Given the description of an element on the screen output the (x, y) to click on. 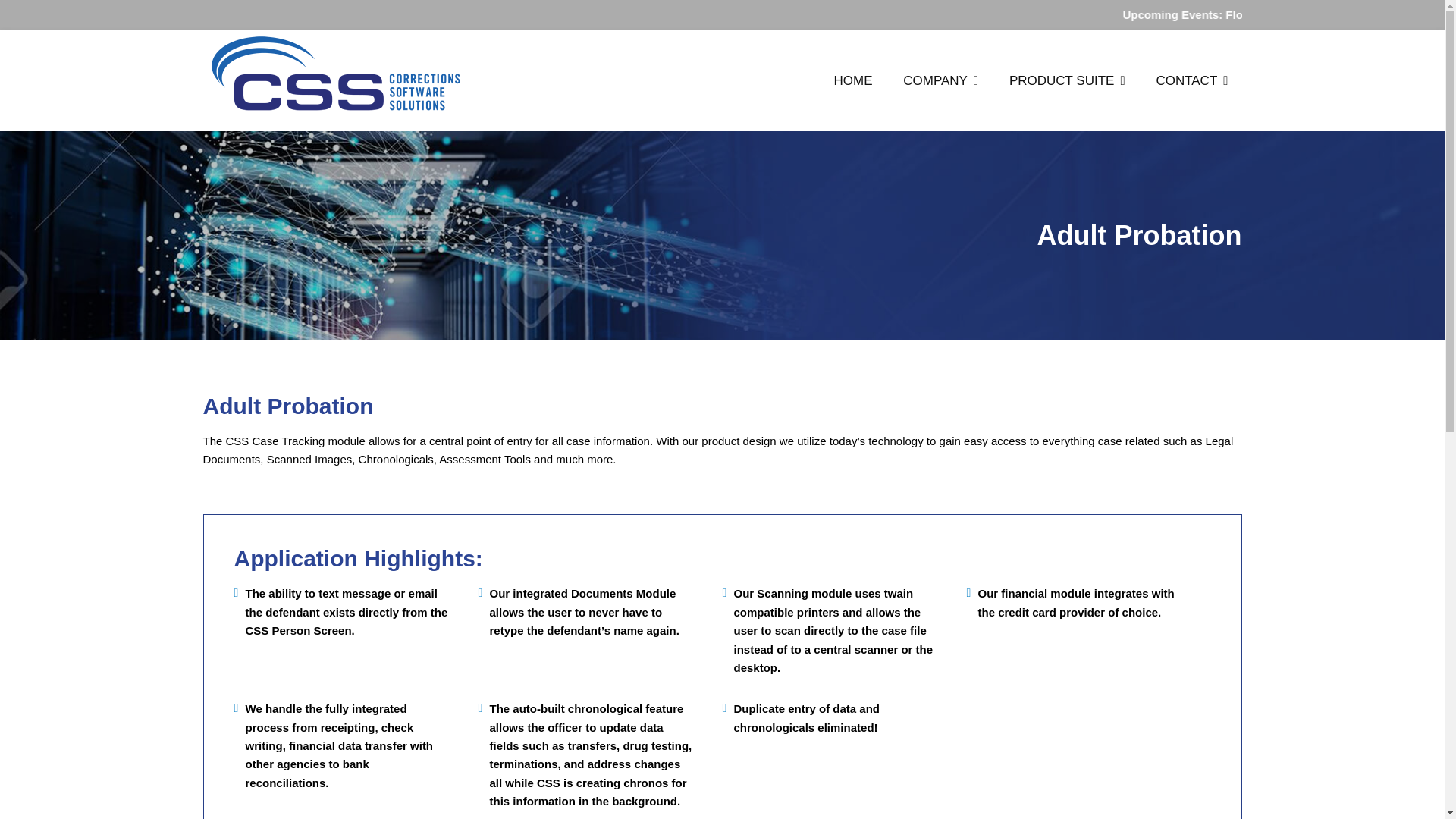
Upcoming Events: (1288, 14)
PRODUCT SUITE (1067, 80)
CONTACT (1191, 80)
CORRECTIONS SOFTWARE SOLUTIONS, LP (523, 136)
COMPANY (940, 80)
